Given the description of an element on the screen output the (x, y) to click on. 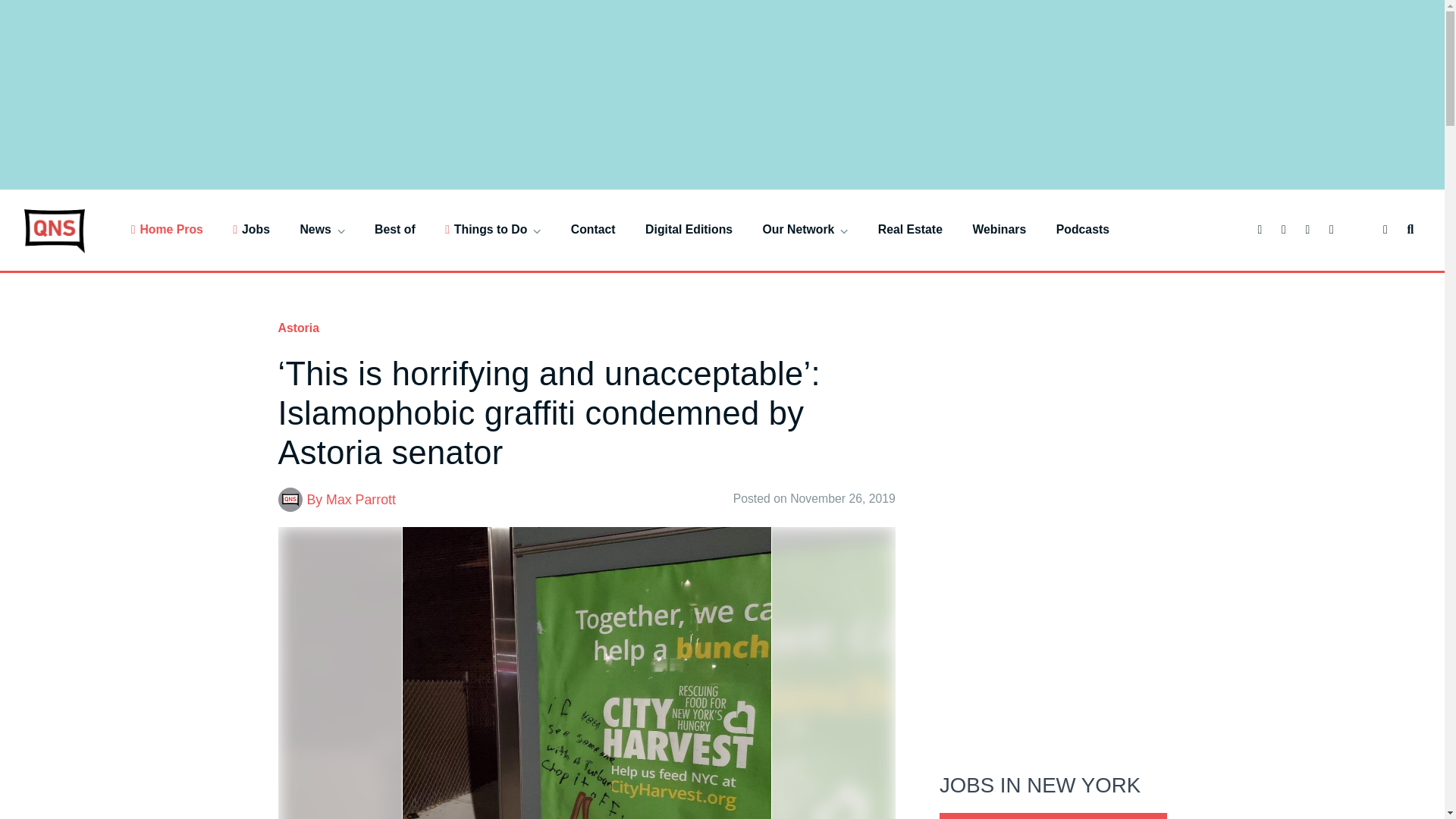
Contact (592, 228)
Things to Do (492, 228)
Digital Editions (688, 228)
Real Estate (909, 228)
Best of (394, 228)
Podcasts (1083, 228)
News (321, 228)
Webinars (999, 228)
Jobs (250, 228)
Home Pros (167, 228)
